Given the description of an element on the screen output the (x, y) to click on. 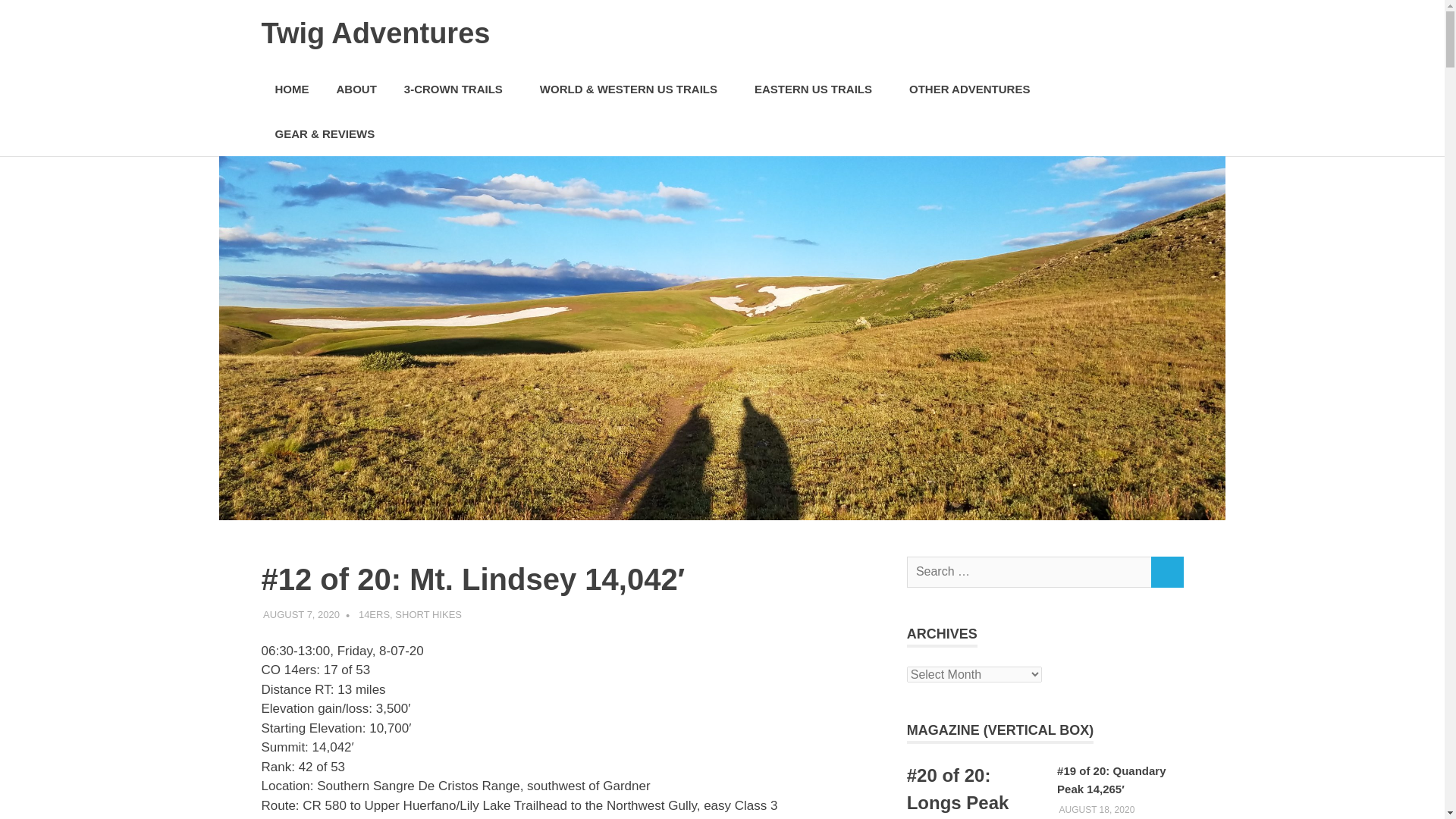
ABOUT (356, 89)
Search for: (1029, 572)
20:20 (1096, 809)
20:20 (301, 613)
View all posts by kaulua26 (380, 613)
3-CROWN TRAILS (457, 89)
HOME (290, 89)
Twig Adventures (374, 33)
View all posts from category 14ers (1000, 729)
